Given the description of an element on the screen output the (x, y) to click on. 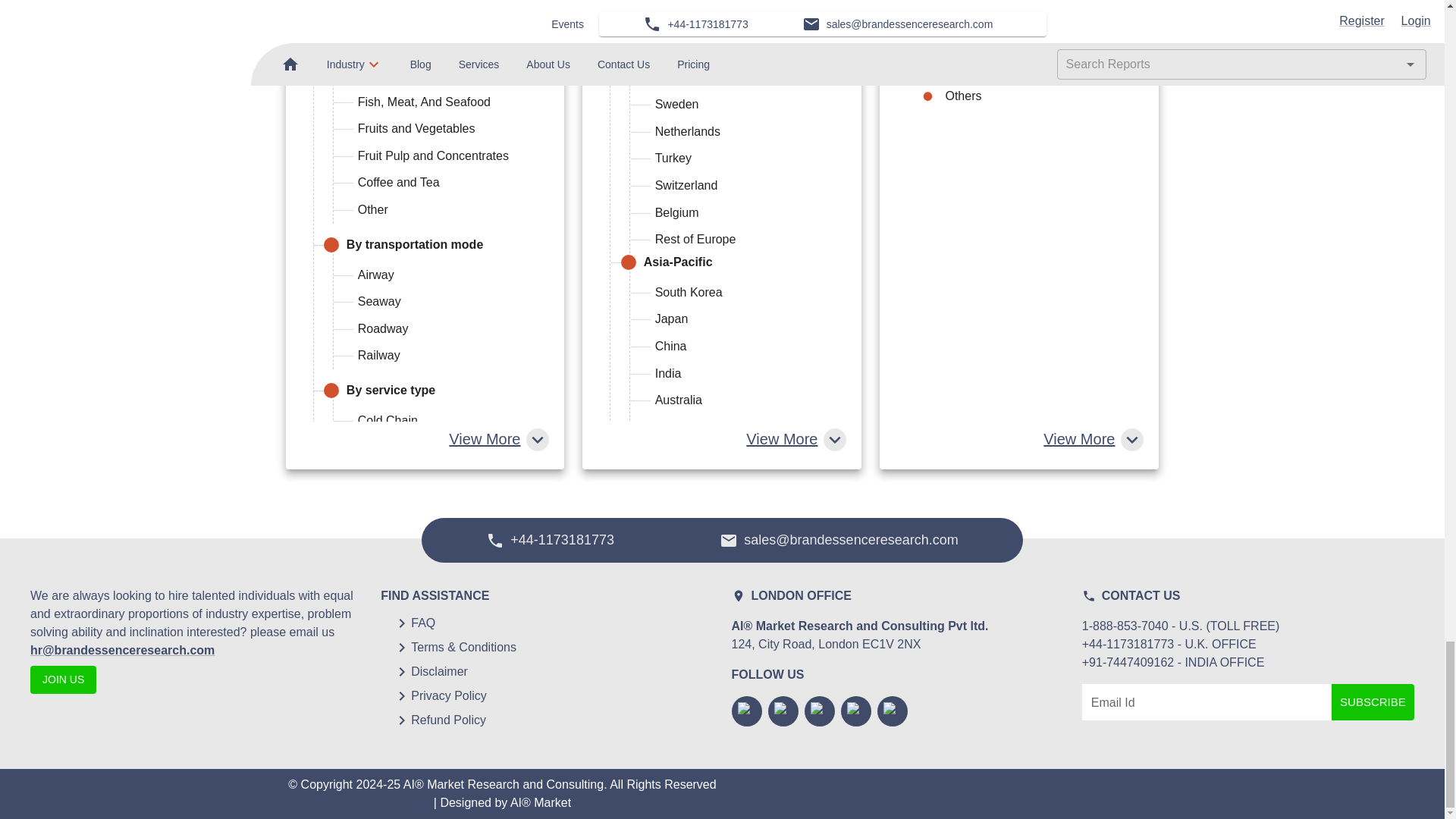
Privacy Policy (448, 696)
JOIN US (63, 679)
Disclaimer (438, 671)
View More (1091, 439)
View More (496, 439)
FAQ (422, 623)
Refund Policy (448, 720)
View More (793, 439)
